Given the description of an element on the screen output the (x, y) to click on. 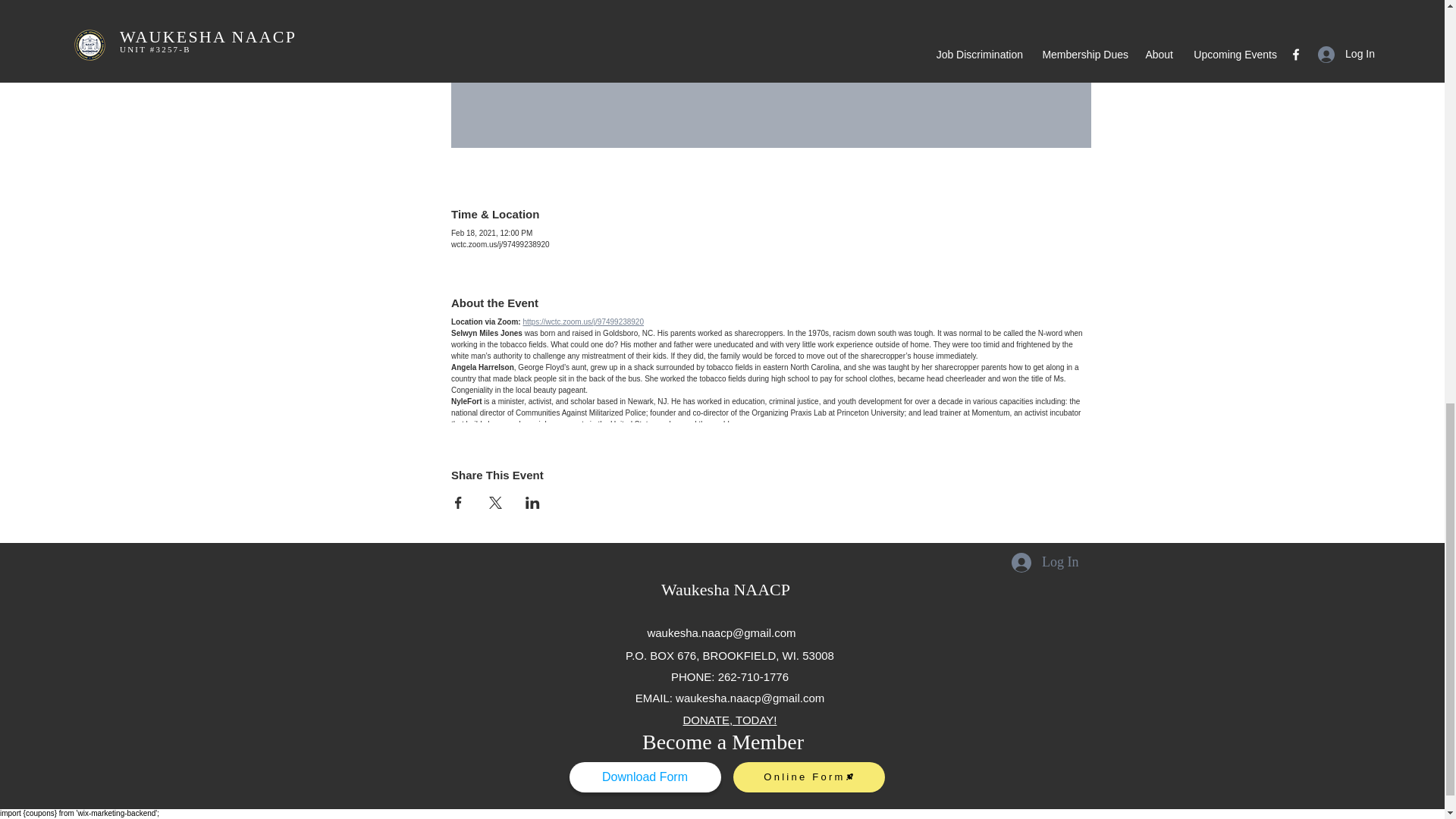
Online Form (807, 777)
Waukesha NAACP (725, 588)
Log In (1045, 562)
DONATE, TODAY! (729, 719)
Download Form (644, 777)
